Given the description of an element on the screen output the (x, y) to click on. 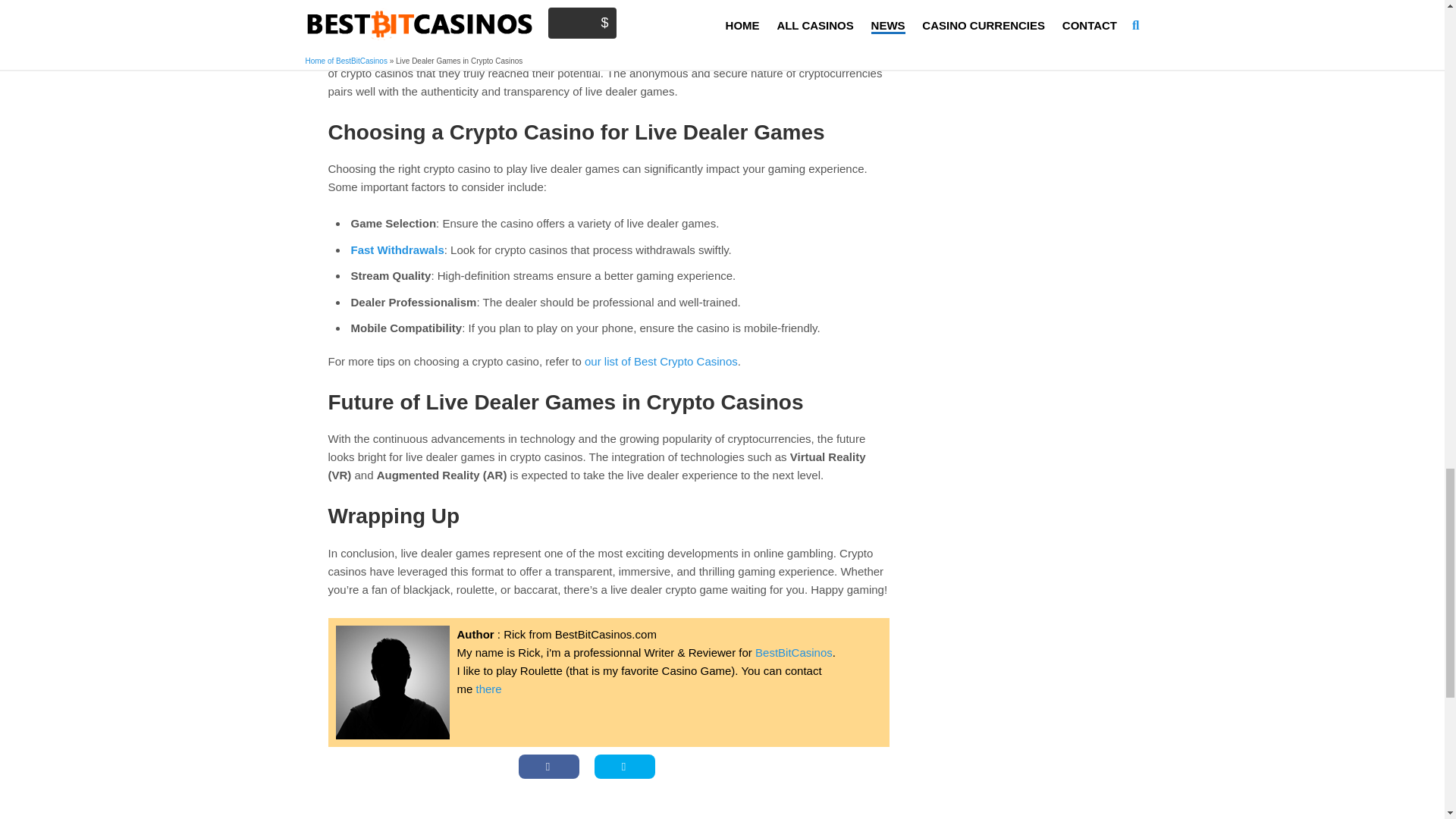
there (489, 688)
Fast Withdrawals (397, 249)
our list of Best Crypto Casinos (661, 360)
BestBitCasinos (793, 652)
